Given the description of an element on the screen output the (x, y) to click on. 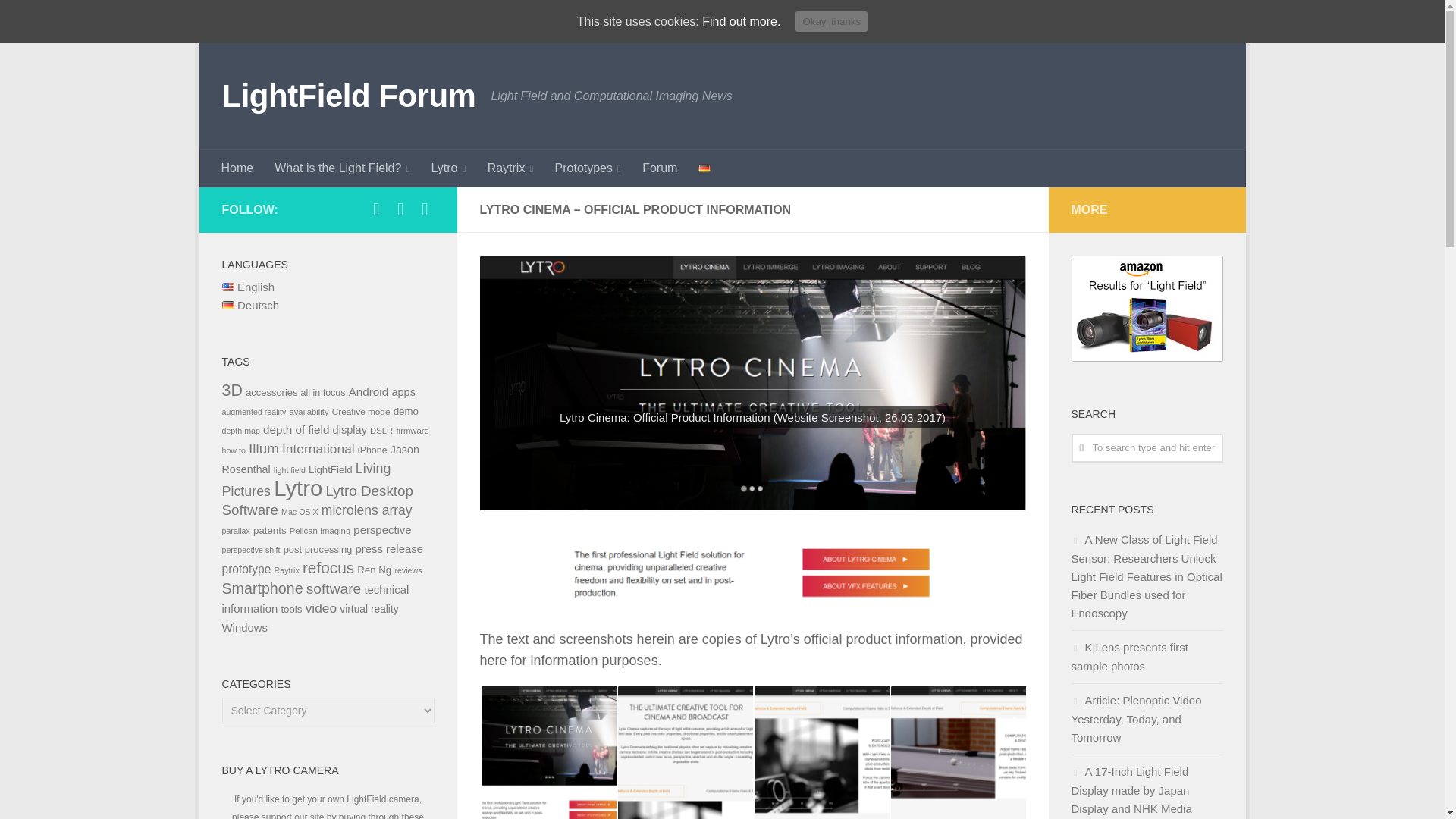
To search type and hit enter (1146, 448)
Raytrix (510, 168)
Lytro (448, 168)
What is the Light Field? (341, 168)
LightField Forum (348, 95)
To search type and hit enter (1146, 448)
Home (237, 168)
